Given the description of an element on the screen output the (x, y) to click on. 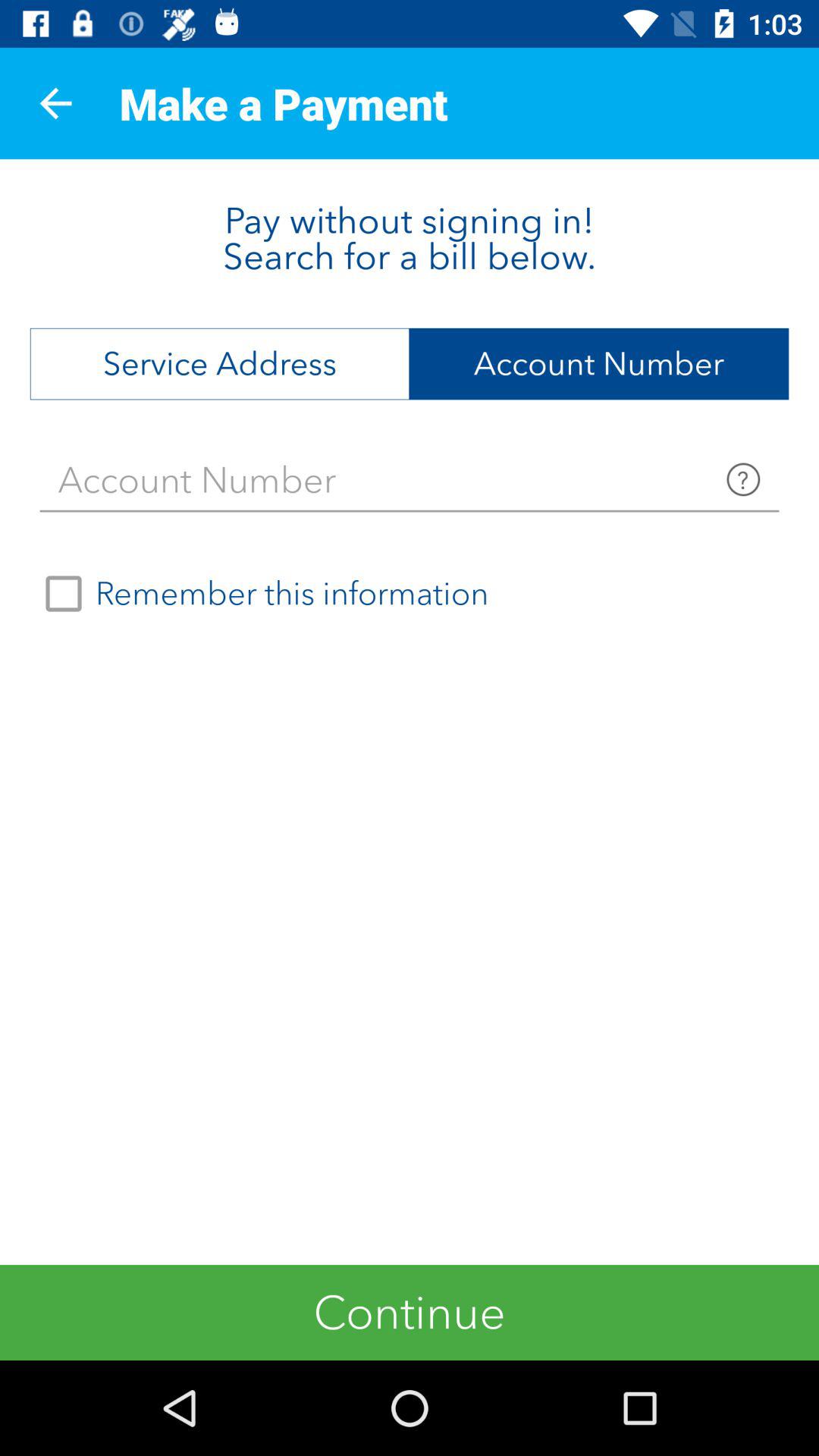
scroll to the remember this information (259, 593)
